Given the description of an element on the screen output the (x, y) to click on. 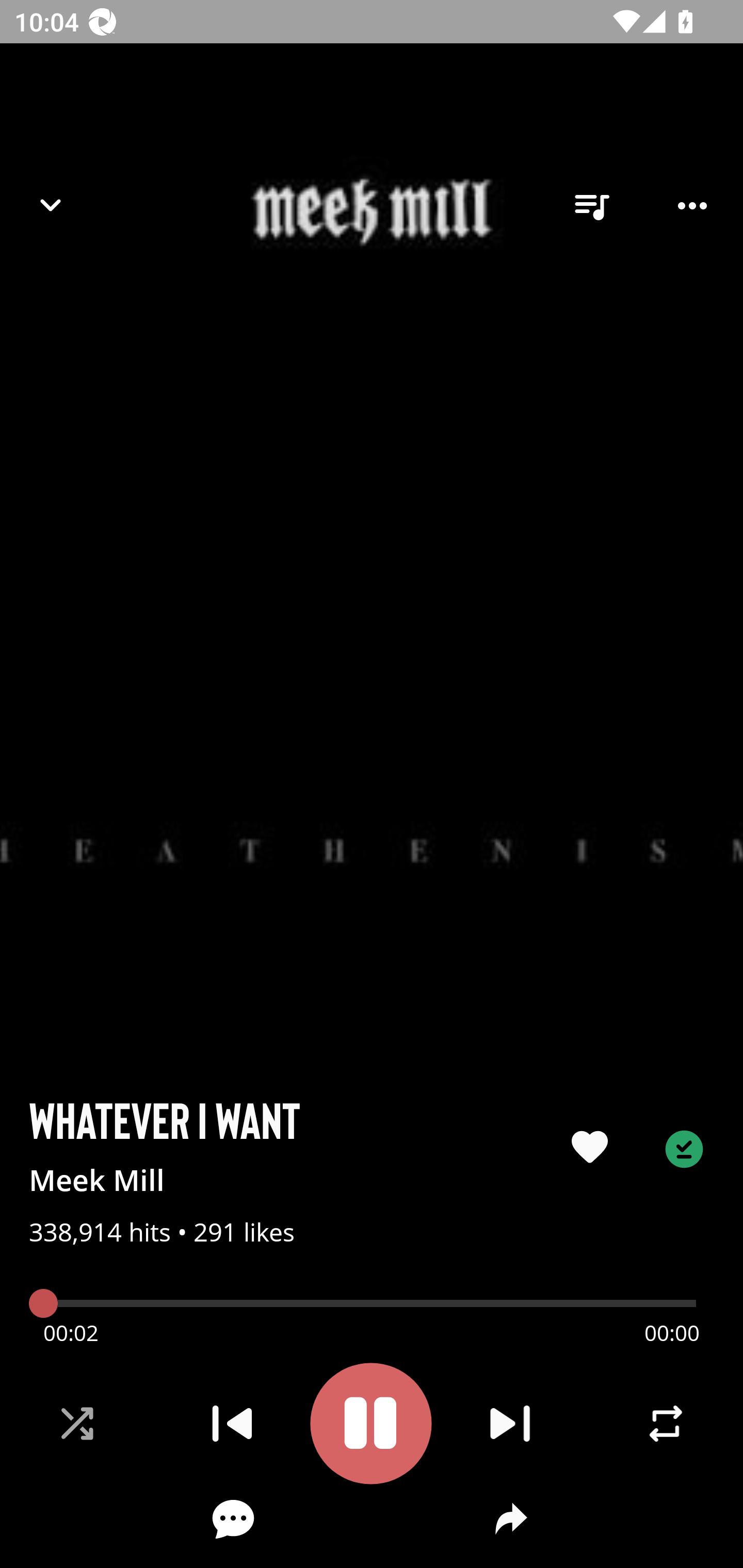
Navigate up (50, 205)
queue (590, 206)
Player options (692, 206)
